Given the description of an element on the screen output the (x, y) to click on. 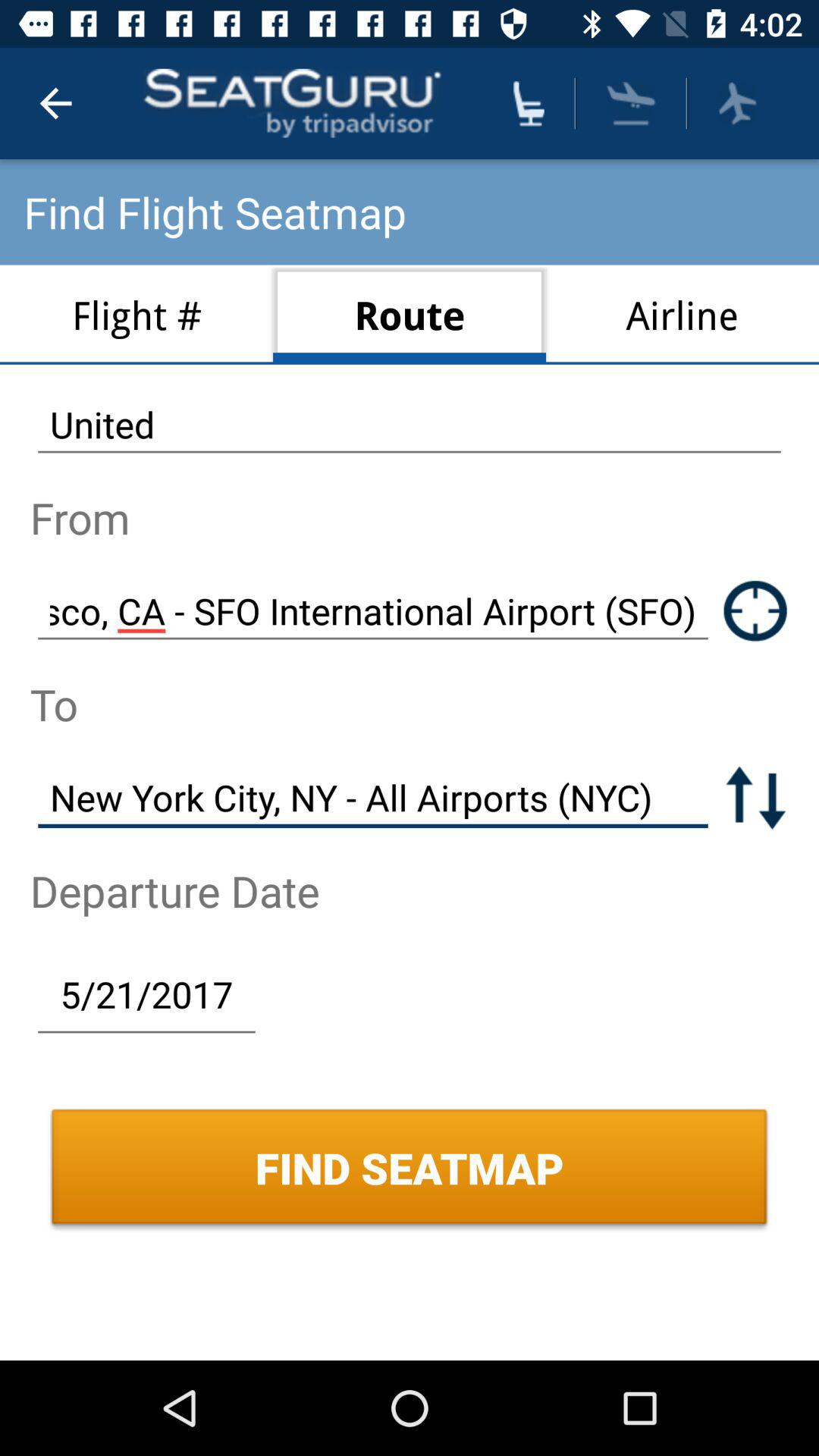
find seat location (528, 103)
